Given the description of an element on the screen output the (x, y) to click on. 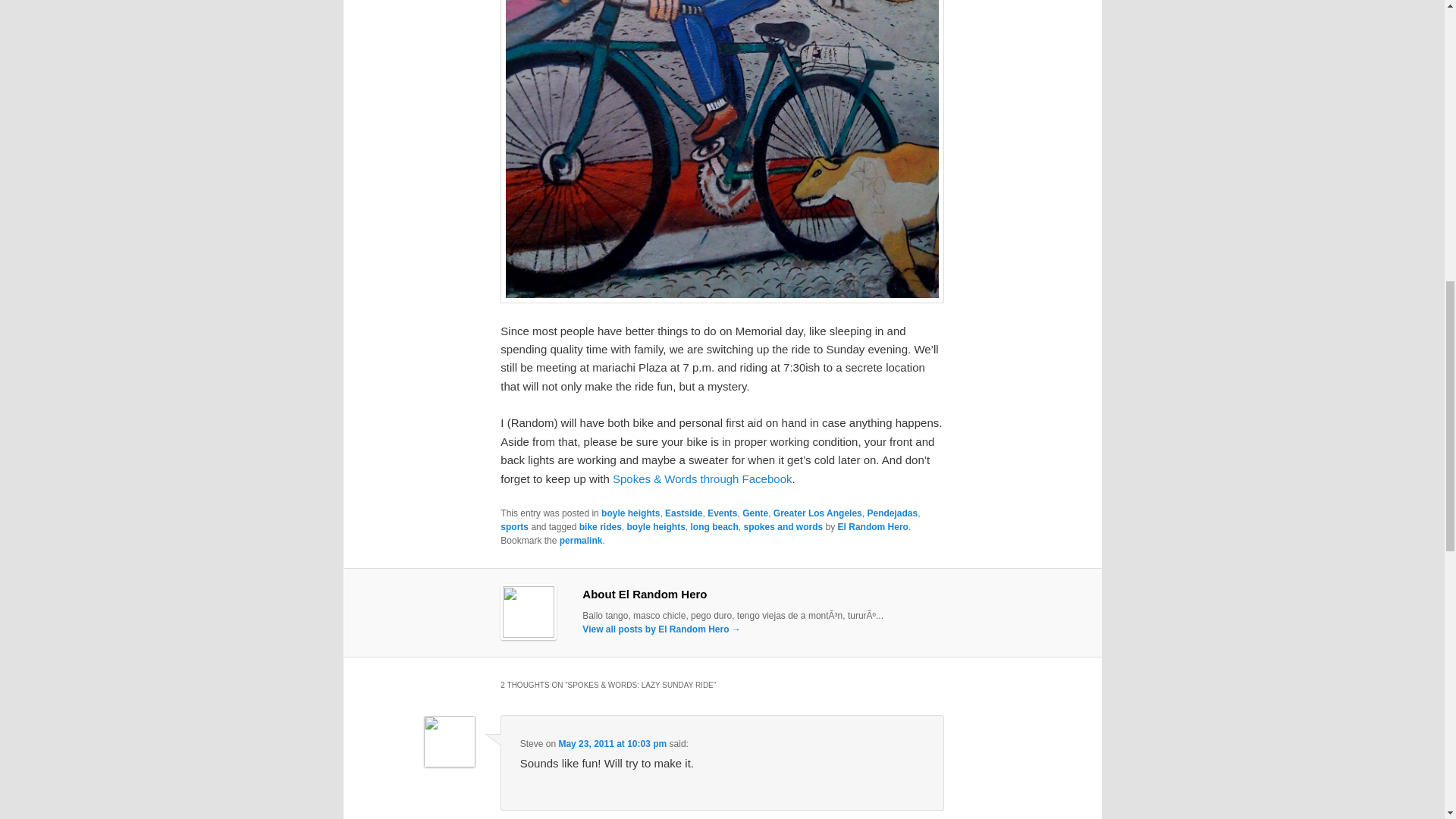
sports (514, 526)
Pendejadas (891, 512)
boyle heights (655, 526)
permalink (580, 540)
spokes and words (784, 526)
Events (721, 512)
El Random Hero (873, 526)
boyle heights (630, 512)
photo (721, 151)
bike rides (600, 526)
